Given the description of an element on the screen output the (x, y) to click on. 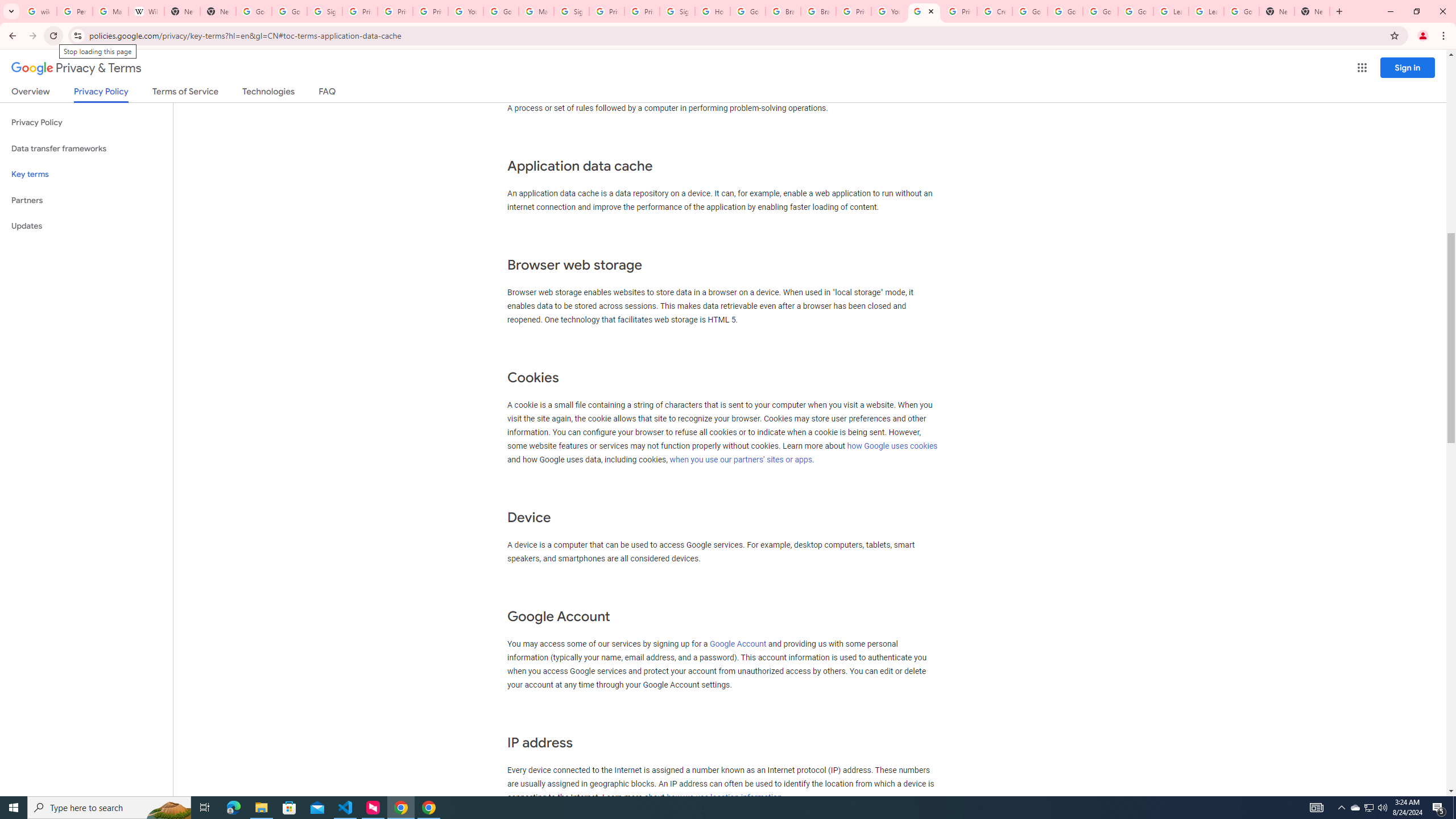
YouTube (888, 11)
New Tab (1312, 11)
YouTube (465, 11)
Brand Resource Center (817, 11)
Personalization & Google Search results - Google Search Help (74, 11)
